Given the description of an element on the screen output the (x, y) to click on. 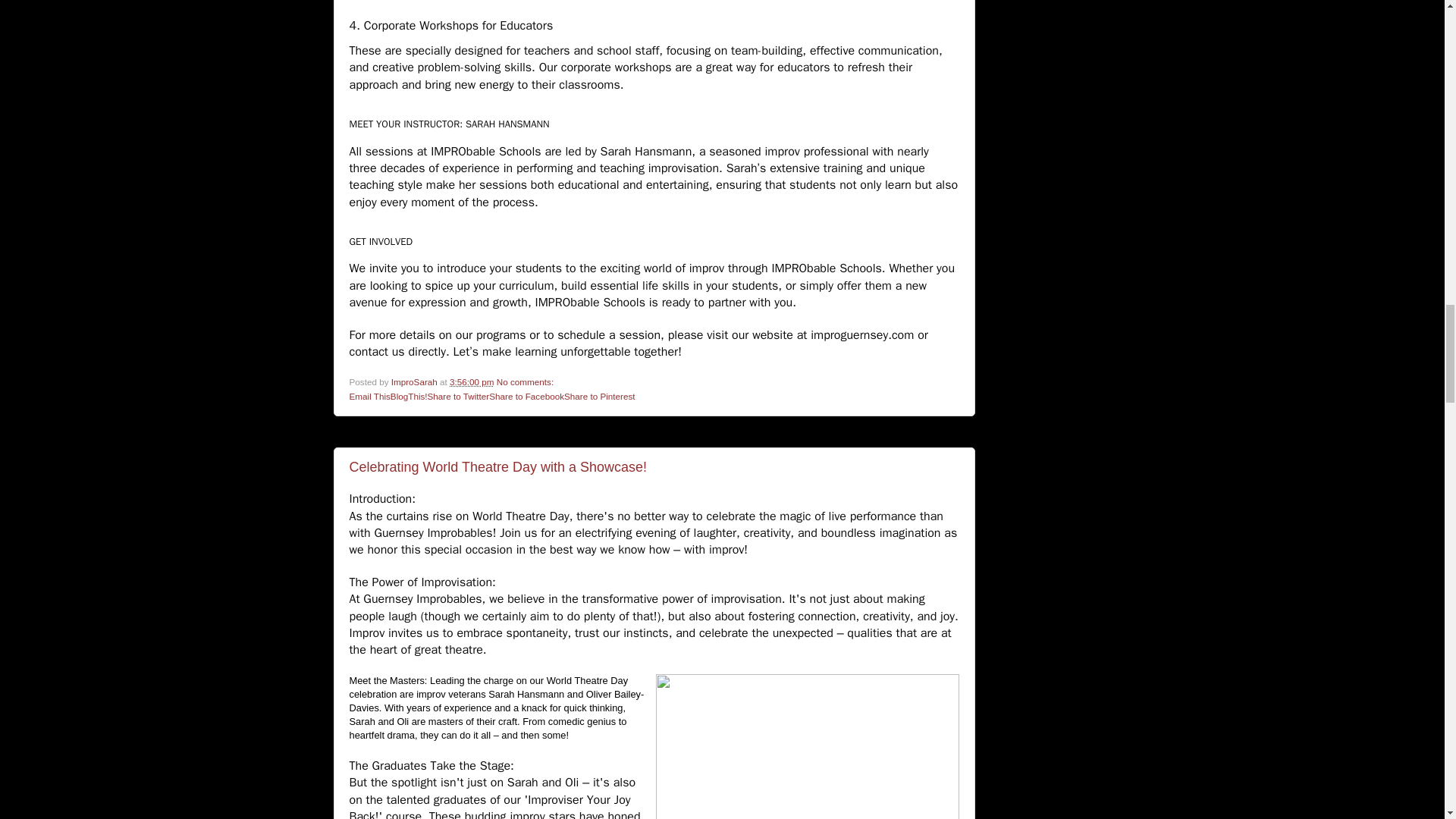
Share to Facebook (526, 396)
3:56:00 pm (471, 381)
Share to Twitter (458, 396)
Share to Pinterest (599, 396)
improguernsey.com (862, 335)
Celebrating World Theatre Day with a Showcase! (497, 467)
permanent link (471, 381)
Share to Twitter (458, 396)
Share to Pinterest (599, 396)
ImproSarah (415, 381)
